Given the description of an element on the screen output the (x, y) to click on. 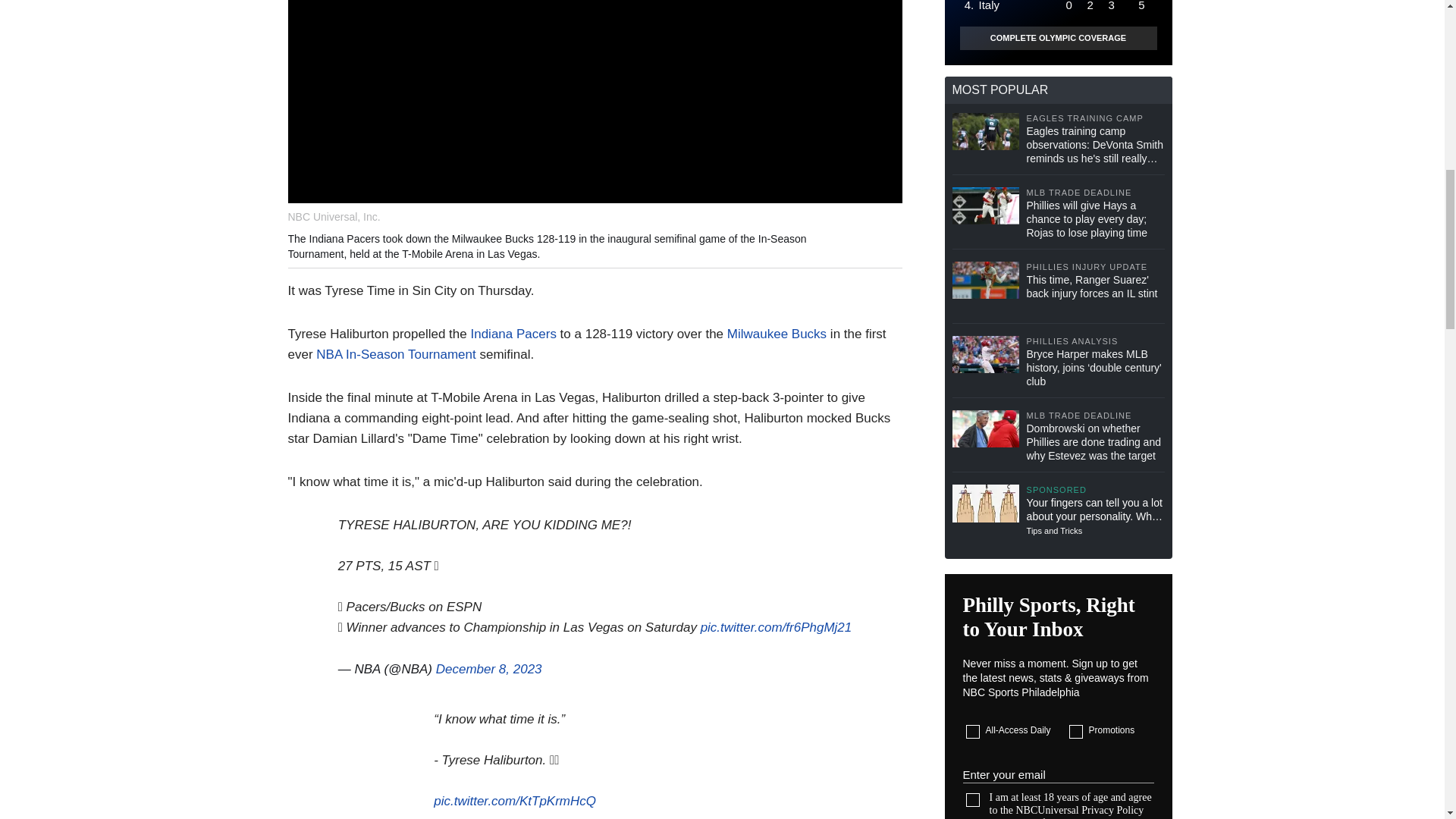
Milwaukee Bucks (776, 333)
NBA (328, 354)
December 8, 2023 (488, 668)
on (1075, 731)
In-Season Tournament (411, 354)
Indiana Pacers (513, 333)
on (972, 799)
on (972, 731)
